Given the description of an element on the screen output the (x, y) to click on. 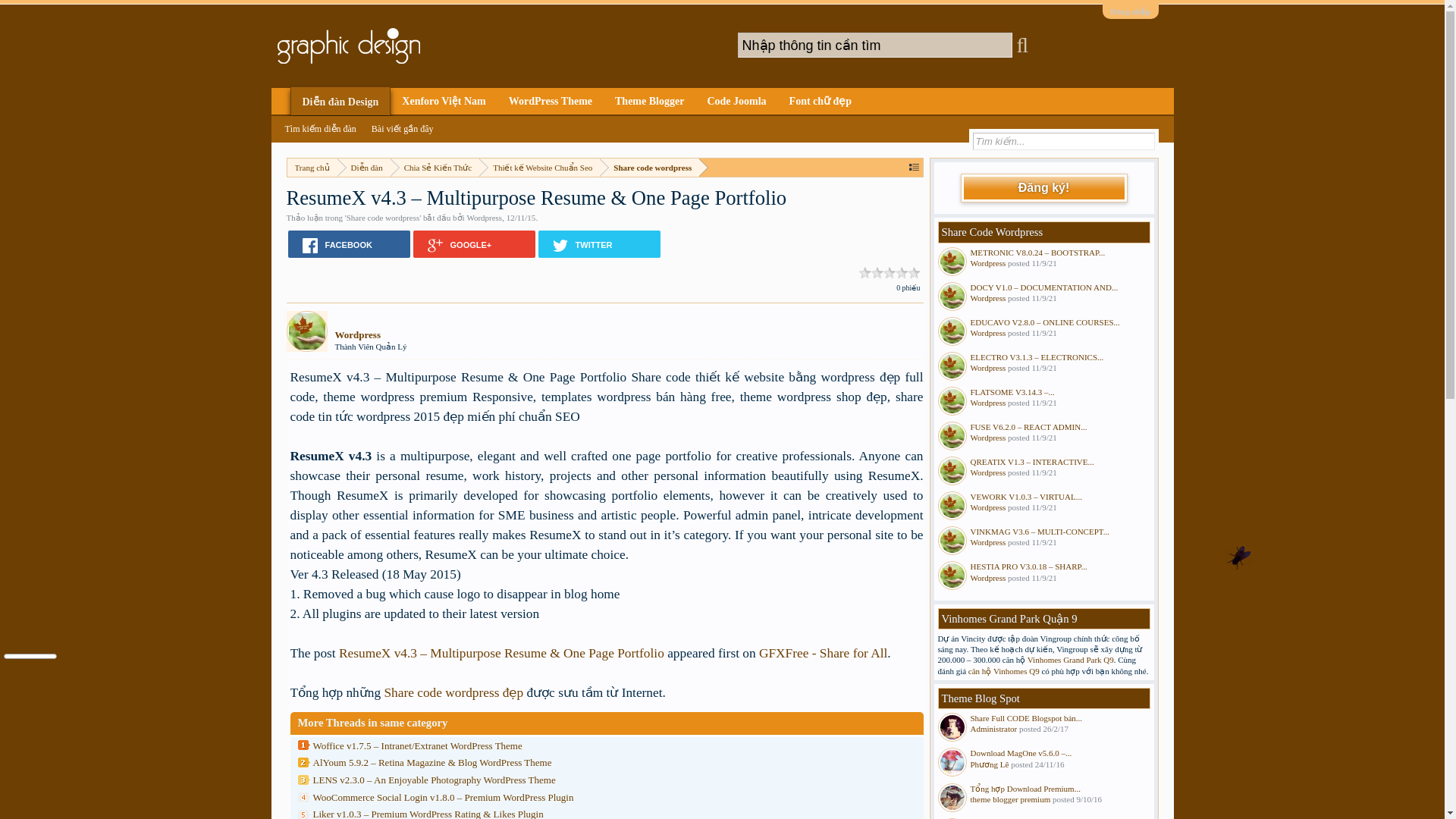
GFXFree - Share for All (823, 653)
Wordpress (483, 216)
1 (865, 273)
Share code wordpress (648, 167)
Share code wordpress (383, 216)
TWITTER (599, 243)
2 (876, 273)
FACEBOOK (349, 243)
4 (901, 273)
5 (914, 273)
